Given the description of an element on the screen output the (x, y) to click on. 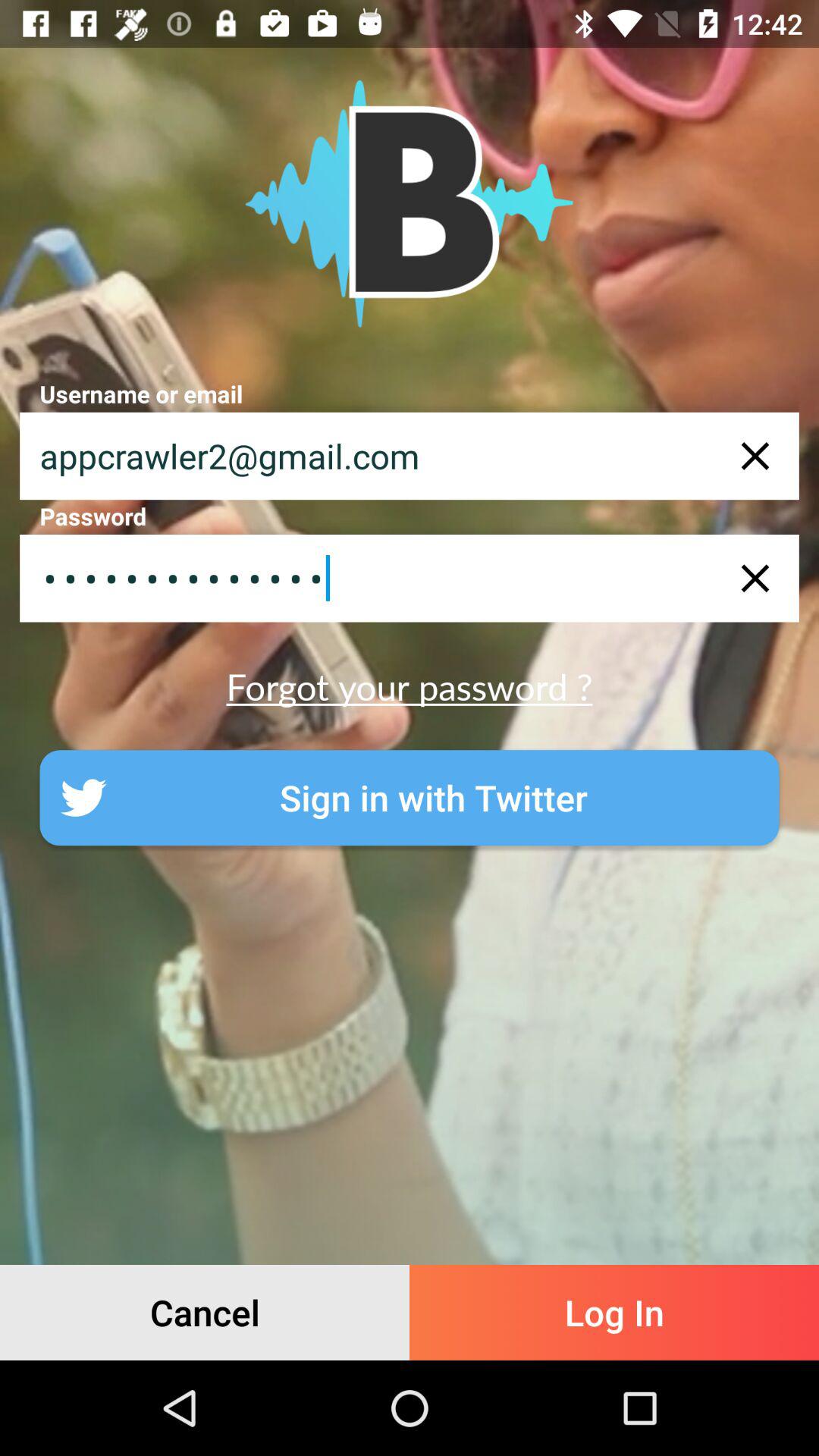
select the icon below appcrawler3116 (409, 686)
